Given the description of an element on the screen output the (x, y) to click on. 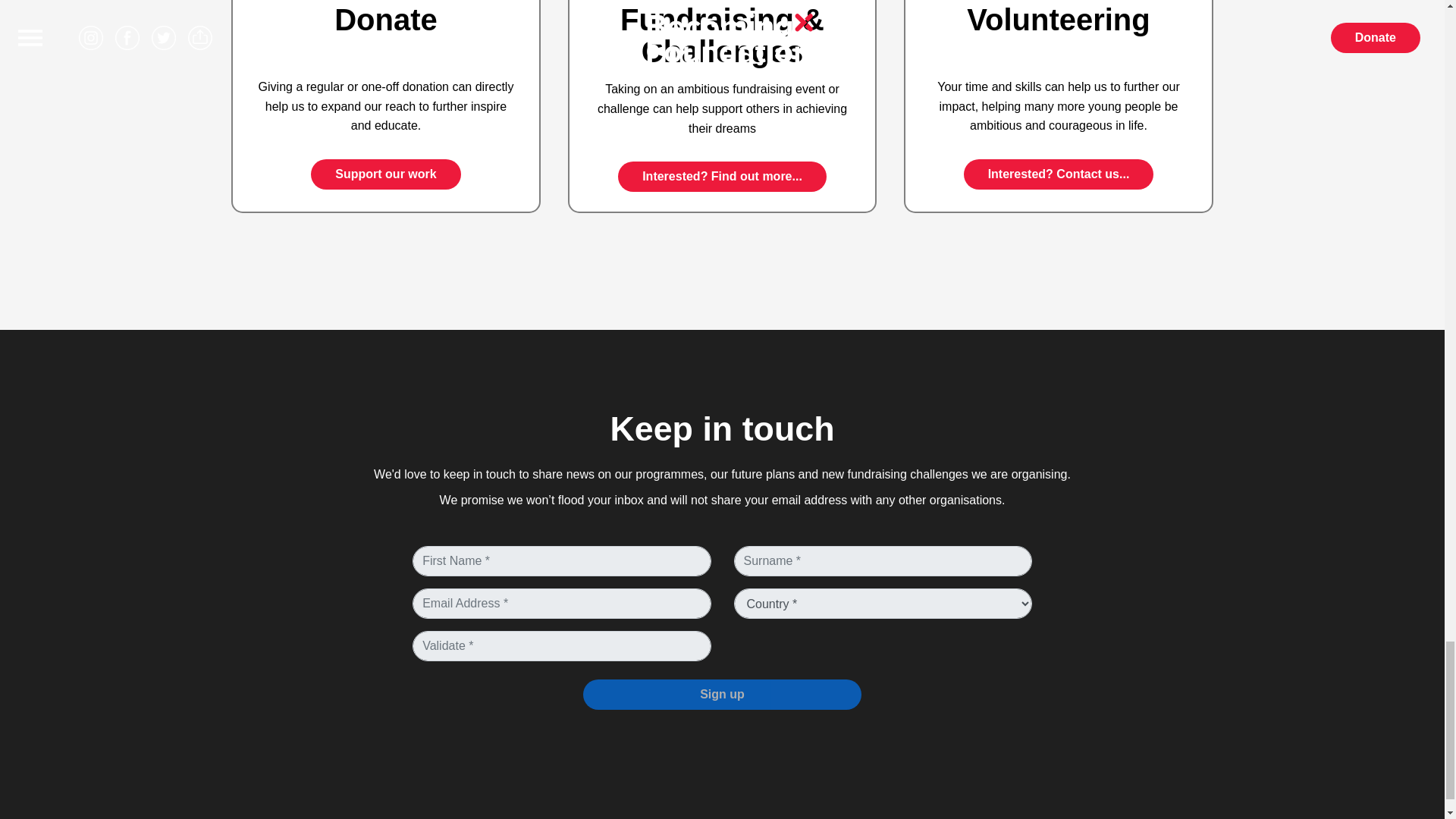
Interested? Contact us... (1058, 173)
Sign up (722, 694)
Support our work (385, 173)
Interested? Find out more... (722, 176)
